Given the description of an element on the screen output the (x, y) to click on. 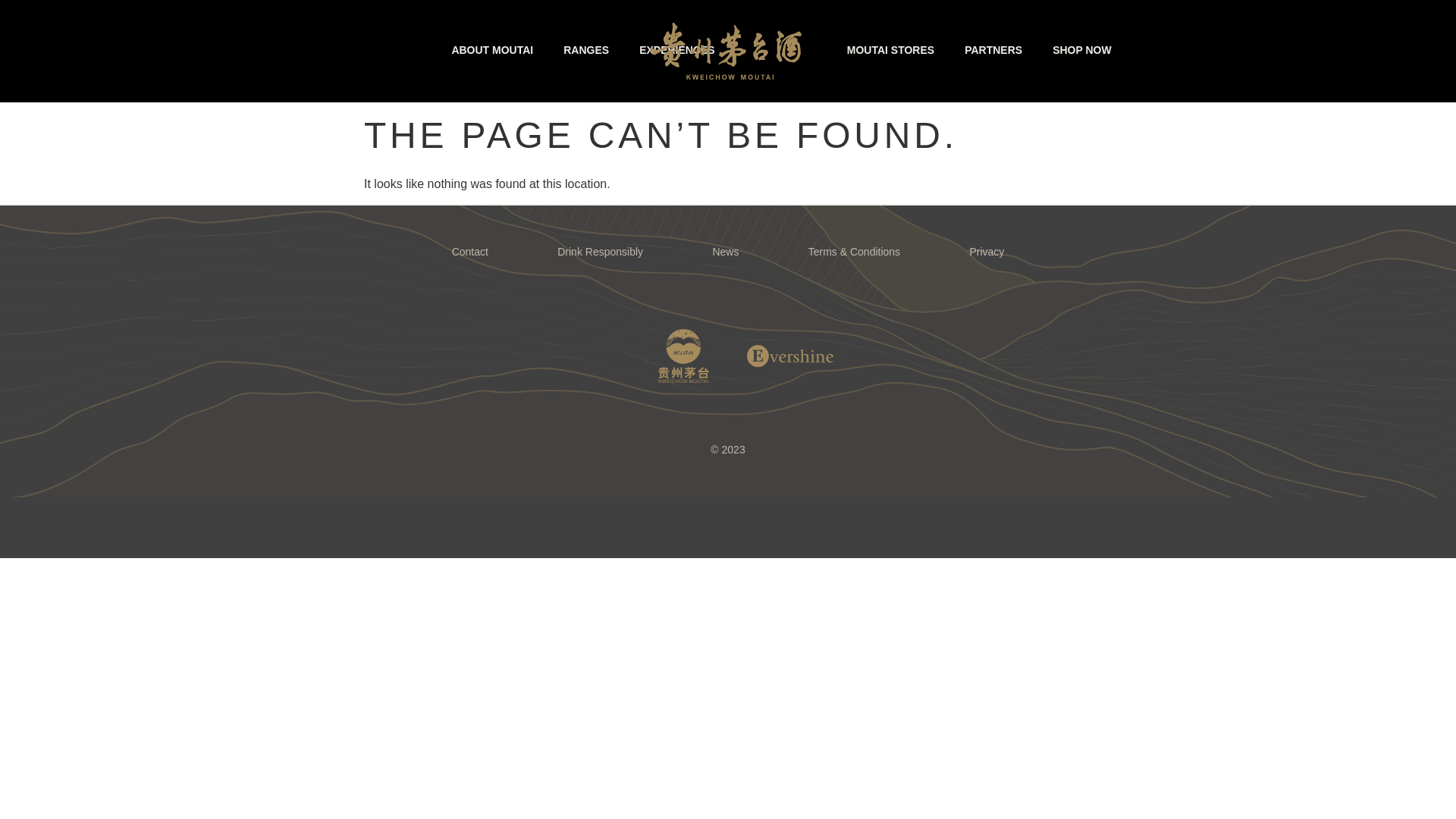
PARTNERS Element type: text (993, 50)
SHOP NOW Element type: text (1081, 50)
Privacy Element type: text (986, 251)
ABOUT MOUTAI Element type: text (492, 50)
MOUTAI STORES Element type: text (890, 50)
Drink Responsibly Element type: text (600, 251)
Terms & Conditions Element type: text (854, 251)
EXPERIENCES Element type: text (677, 50)
RANGES Element type: text (586, 50)
Contact Element type: text (470, 251)
News Element type: text (725, 251)
